Given the description of an element on the screen output the (x, y) to click on. 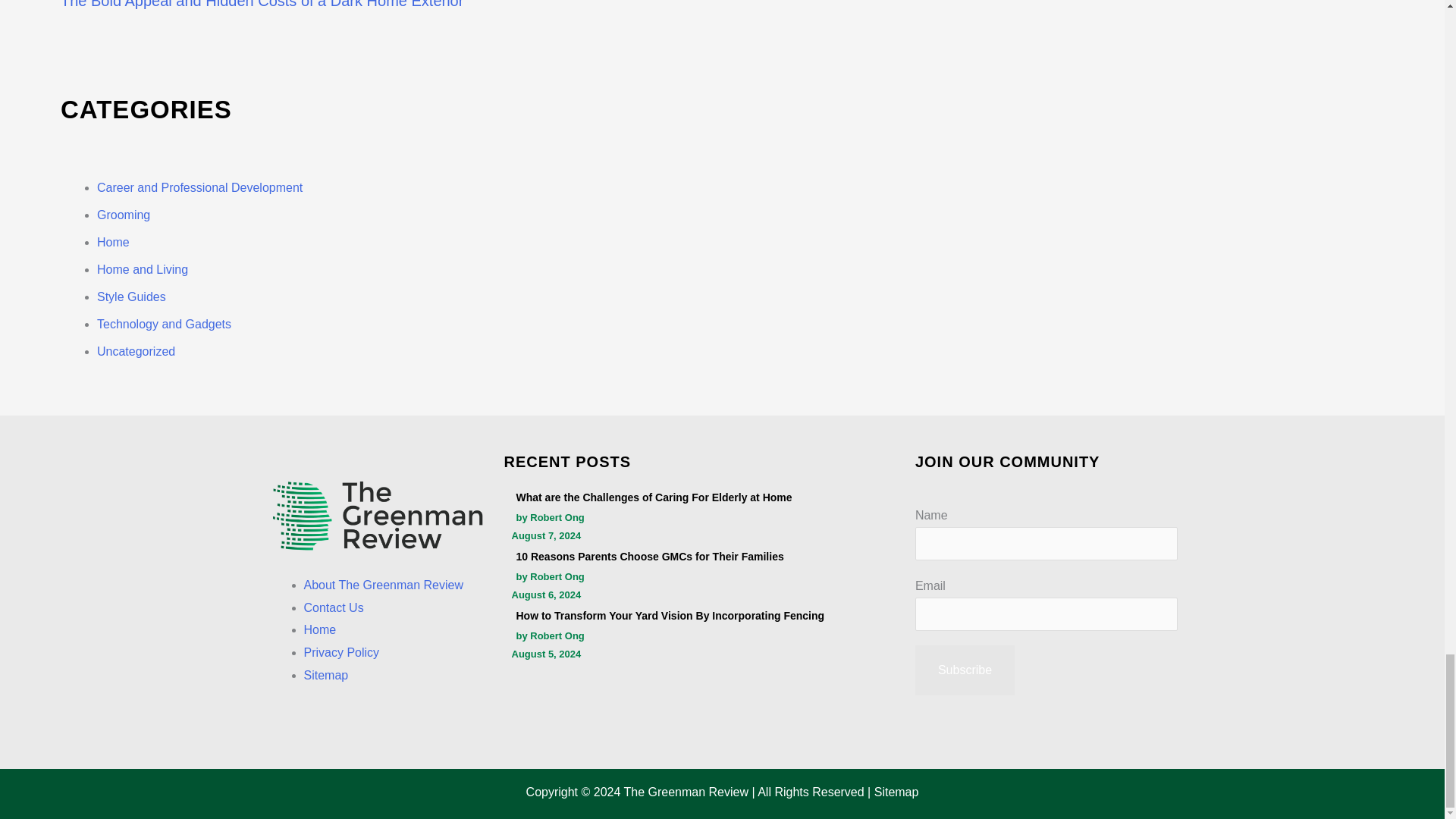
Privacy Policy (340, 652)
Contact Us (332, 607)
Technology and Gadgets (164, 323)
The Bold Appeal and Hidden Costs of a Dark Home Exterior (262, 4)
Grooming (123, 214)
Uncategorized (135, 350)
Subscribe (964, 670)
Home (113, 241)
Home (319, 629)
Style Guides (131, 296)
